Given the description of an element on the screen output the (x, y) to click on. 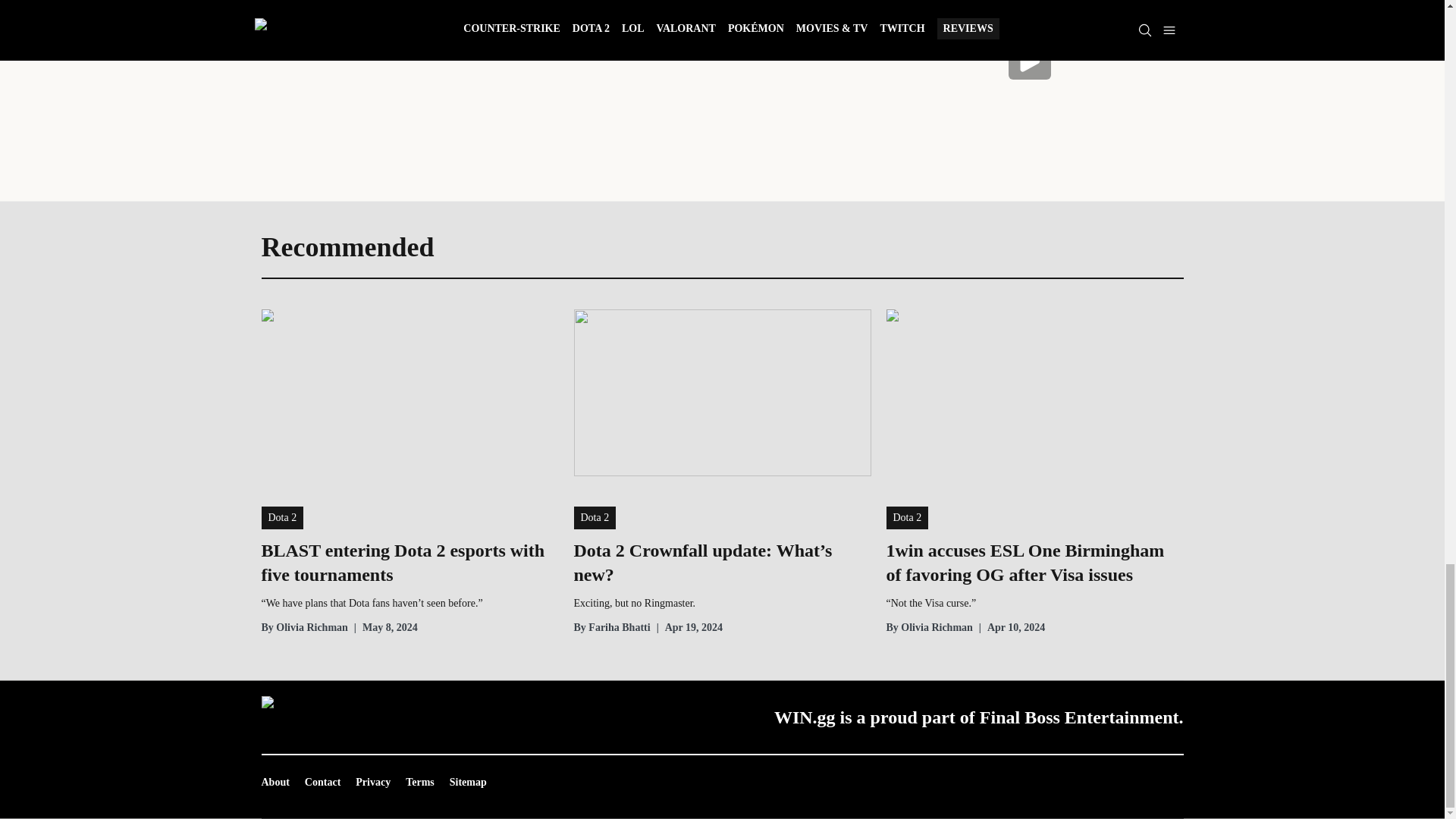
Dota 2 (594, 517)
By Olivia Richman (303, 627)
Dota 2 (281, 517)
By Fariha Bhatti (611, 627)
BLAST entering Dota 2 esports with five tournaments (408, 562)
